Given the description of an element on the screen output the (x, y) to click on. 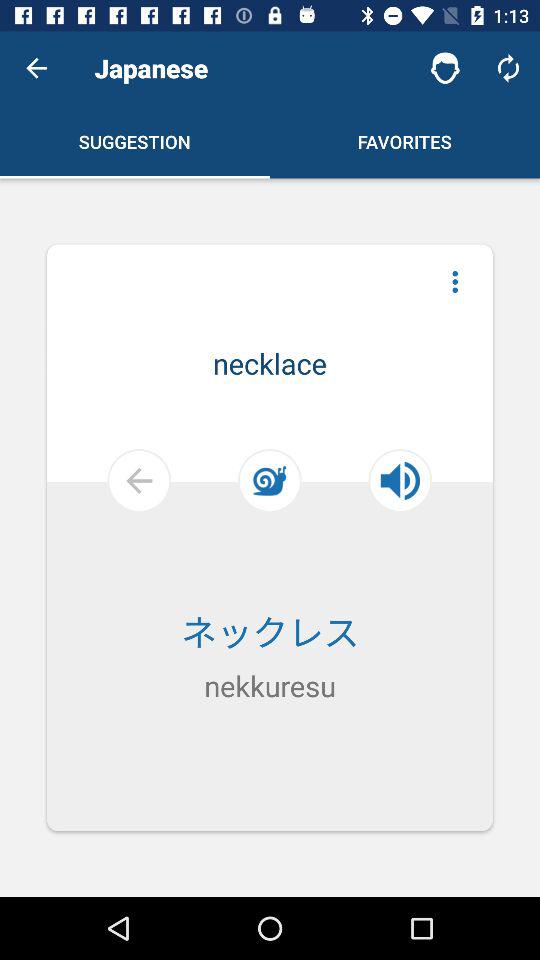
click on the arrow icon (90, 535)
select the favorites which is in the right side of the first line (405, 141)
